Given the description of an element on the screen output the (x, y) to click on. 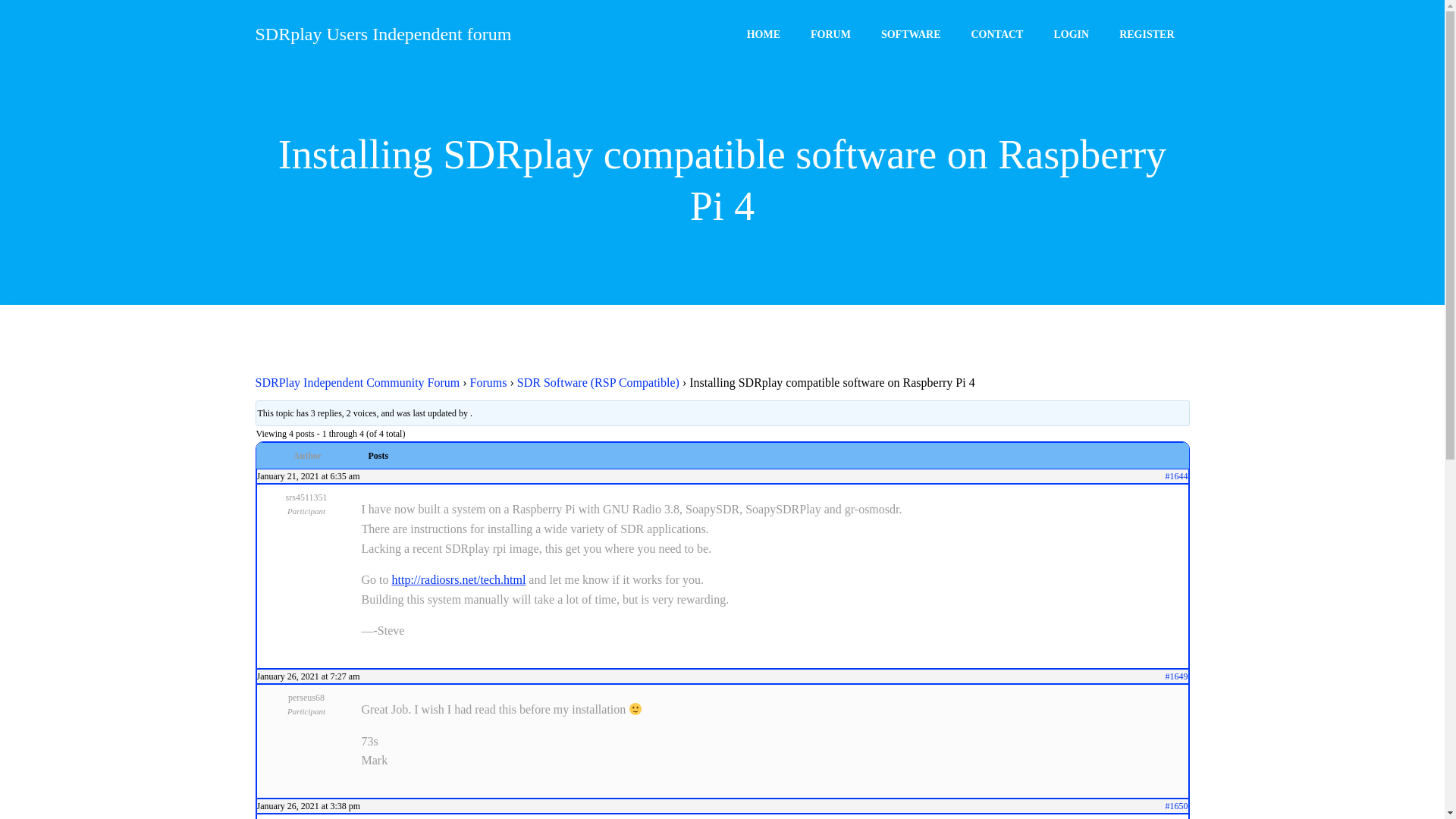
HOME (763, 30)
Forums (488, 382)
SDRPlay Independent Community Forum (357, 382)
FORUM (830, 30)
SDRplay Users Independent forum (382, 35)
ColibriWP Theme (892, 773)
LOGIN (1070, 32)
SOFTWARE (910, 31)
CONTACT (997, 32)
REGISTER (1146, 33)
